Given the description of an element on the screen output the (x, y) to click on. 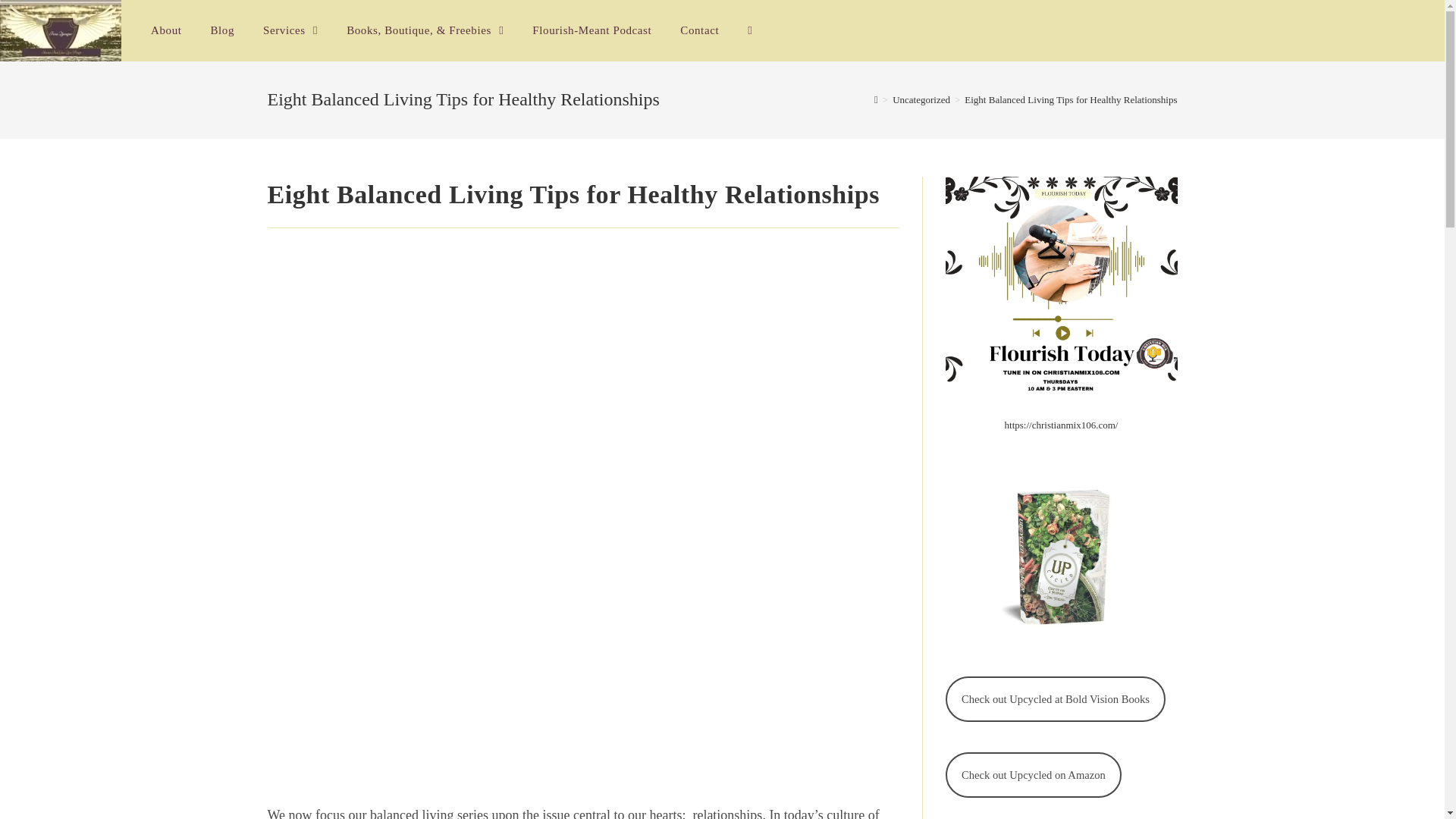
Flourish-Meant Podcast (591, 30)
Contact (699, 30)
About (166, 30)
Services (289, 30)
